Given the description of an element on the screen output the (x, y) to click on. 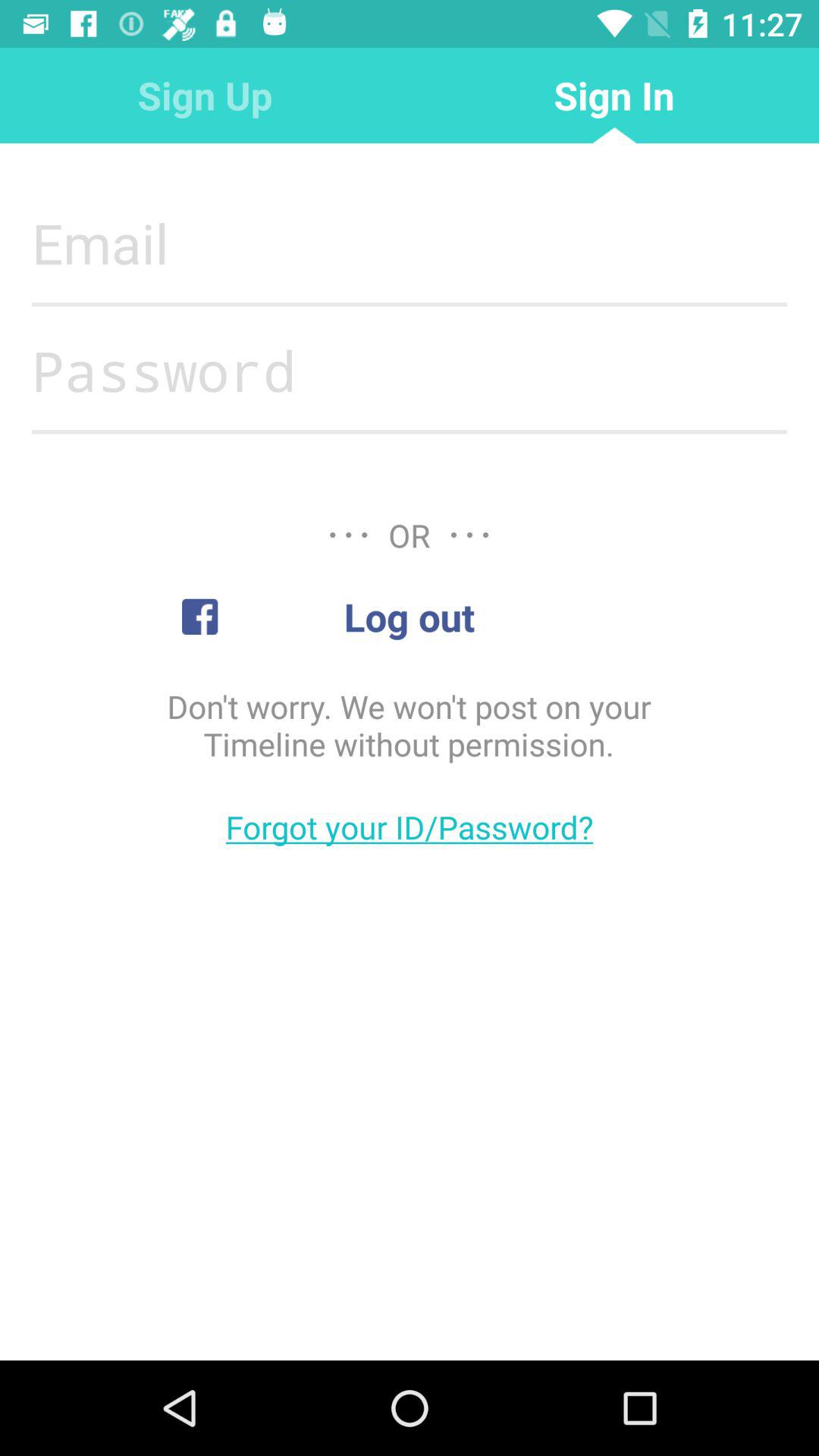
select the icon above the don t worry item (409, 616)
